Given the description of an element on the screen output the (x, y) to click on. 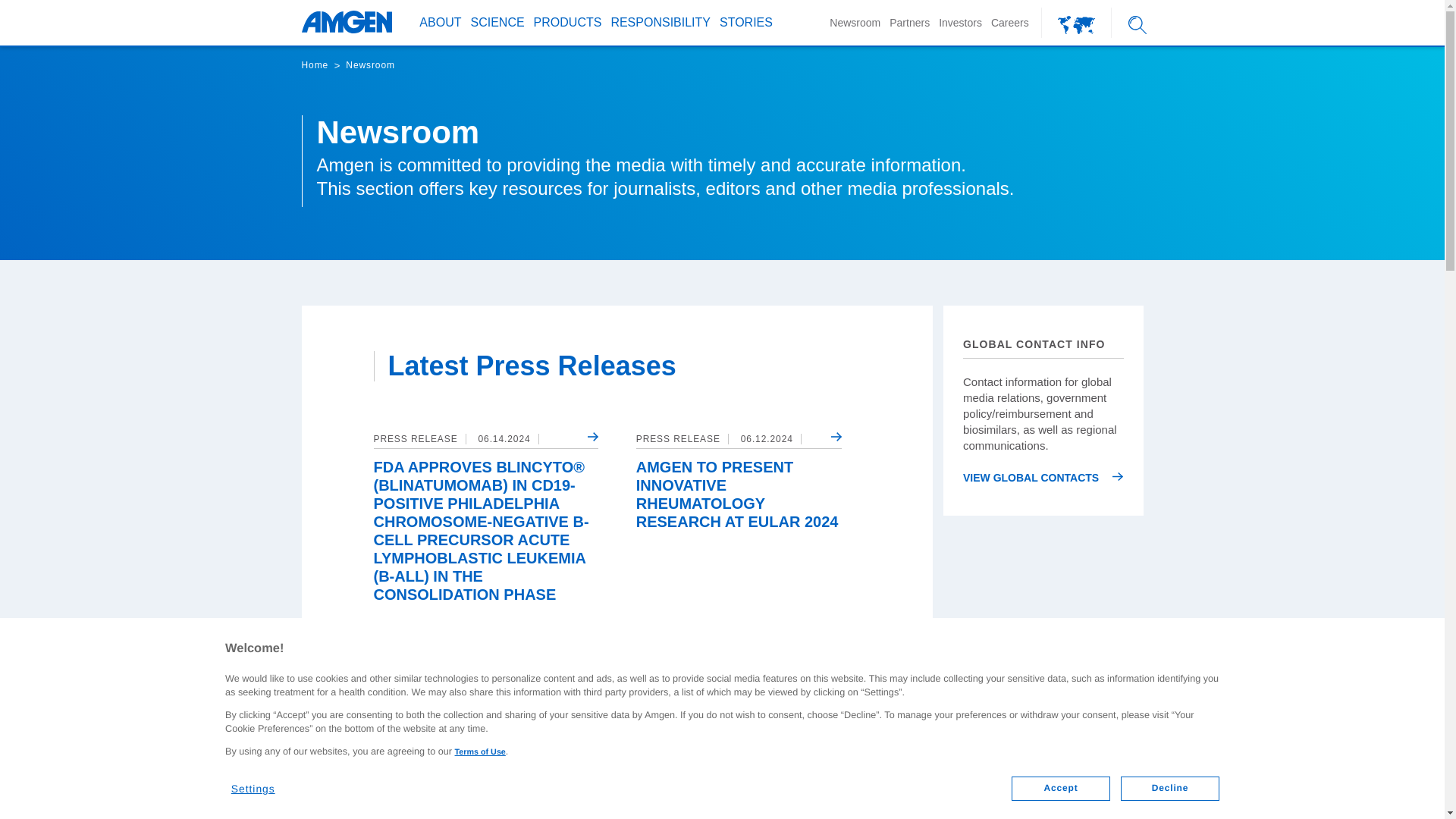
Accept (1060, 788)
Settings (262, 782)
Terms of Use (479, 751)
Decline (1170, 788)
